Given the description of an element on the screen output the (x, y) to click on. 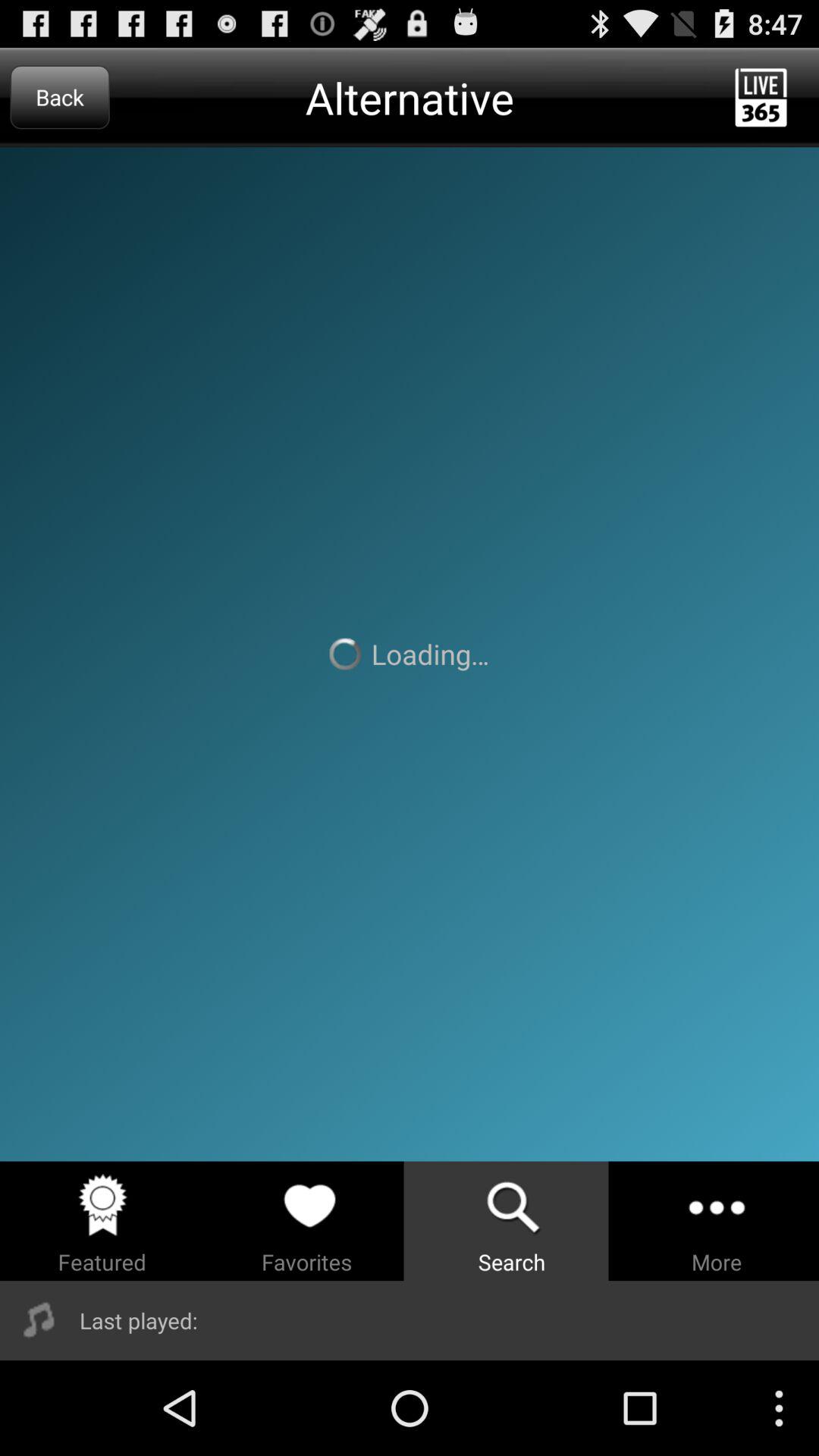
press the back at the top left corner (59, 97)
